Given the description of an element on the screen output the (x, y) to click on. 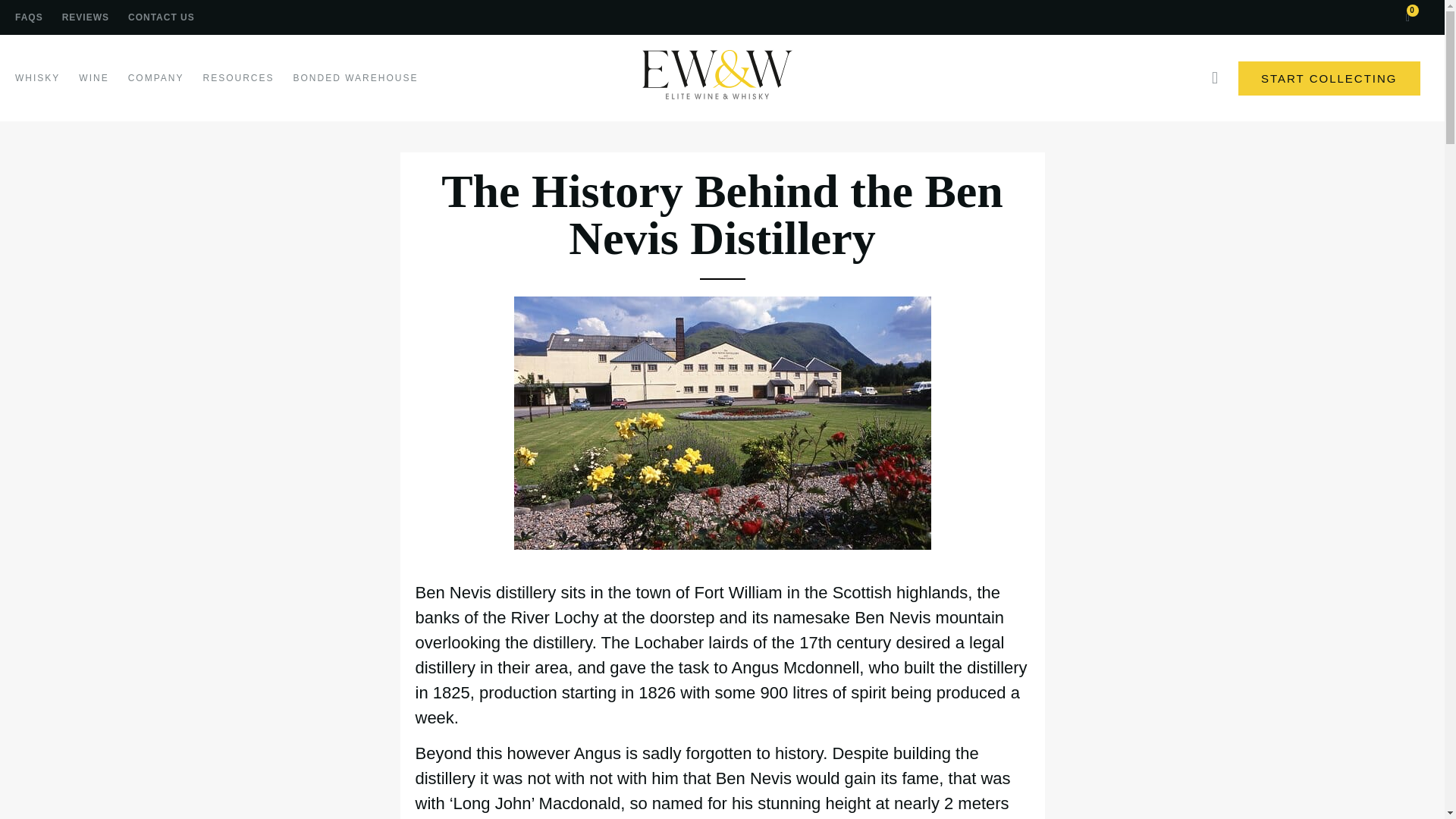
BONDED WAREHOUSE (354, 77)
RESOURCES (237, 77)
WHISKY (36, 77)
CONTACT US (161, 17)
0 (1408, 17)
COMPANY (156, 77)
REVIEWS (85, 17)
